Given the description of an element on the screen output the (x, y) to click on. 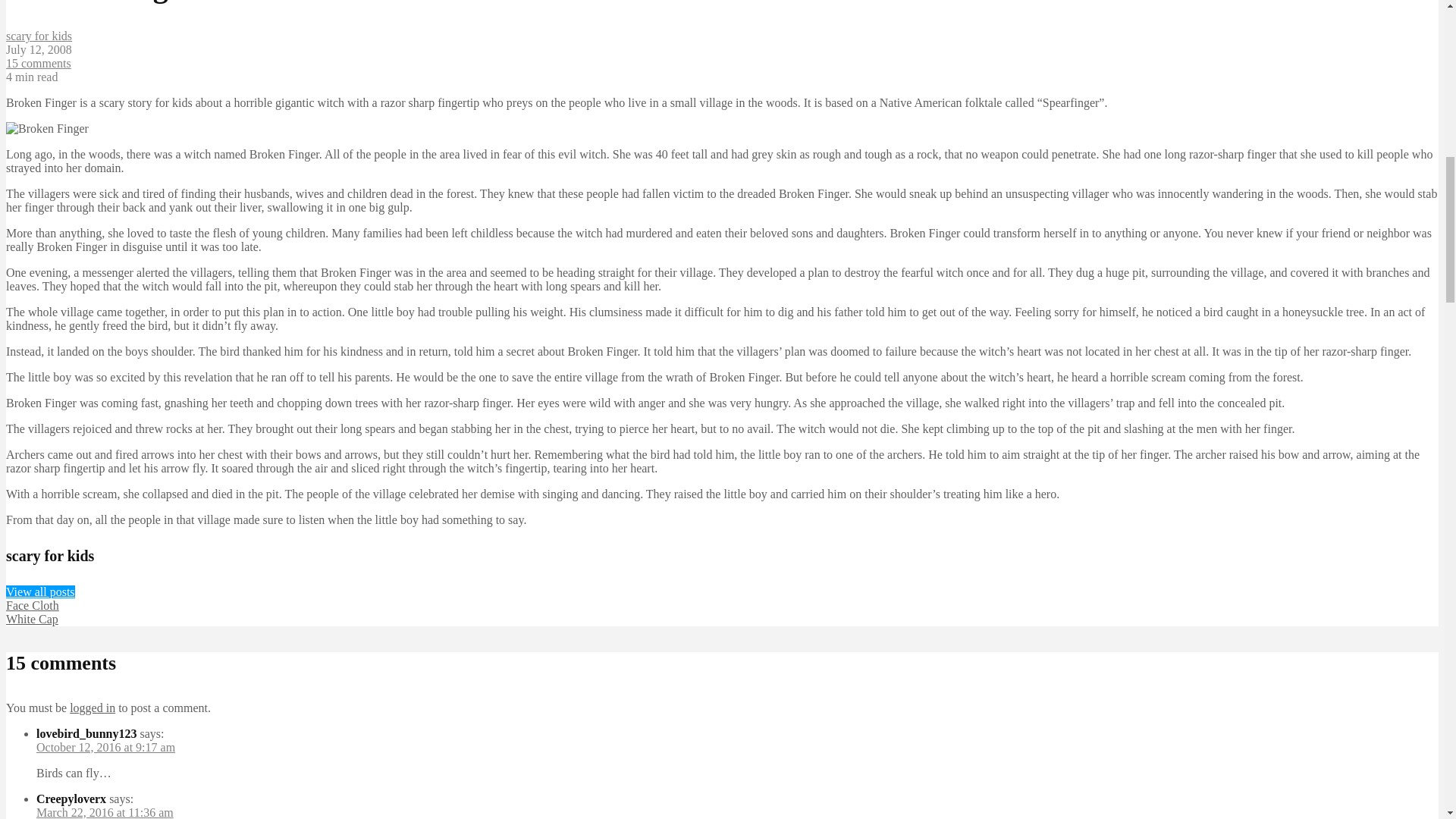
White Cap (31, 618)
Broken Finger (46, 128)
scary for kids (38, 35)
October 12, 2016 at 9:17 am (105, 747)
Face Cloth (32, 604)
March 22, 2016 at 11:36 am (104, 812)
logged in (92, 707)
View all posts (40, 591)
15 comments (38, 62)
